Given the description of an element on the screen output the (x, y) to click on. 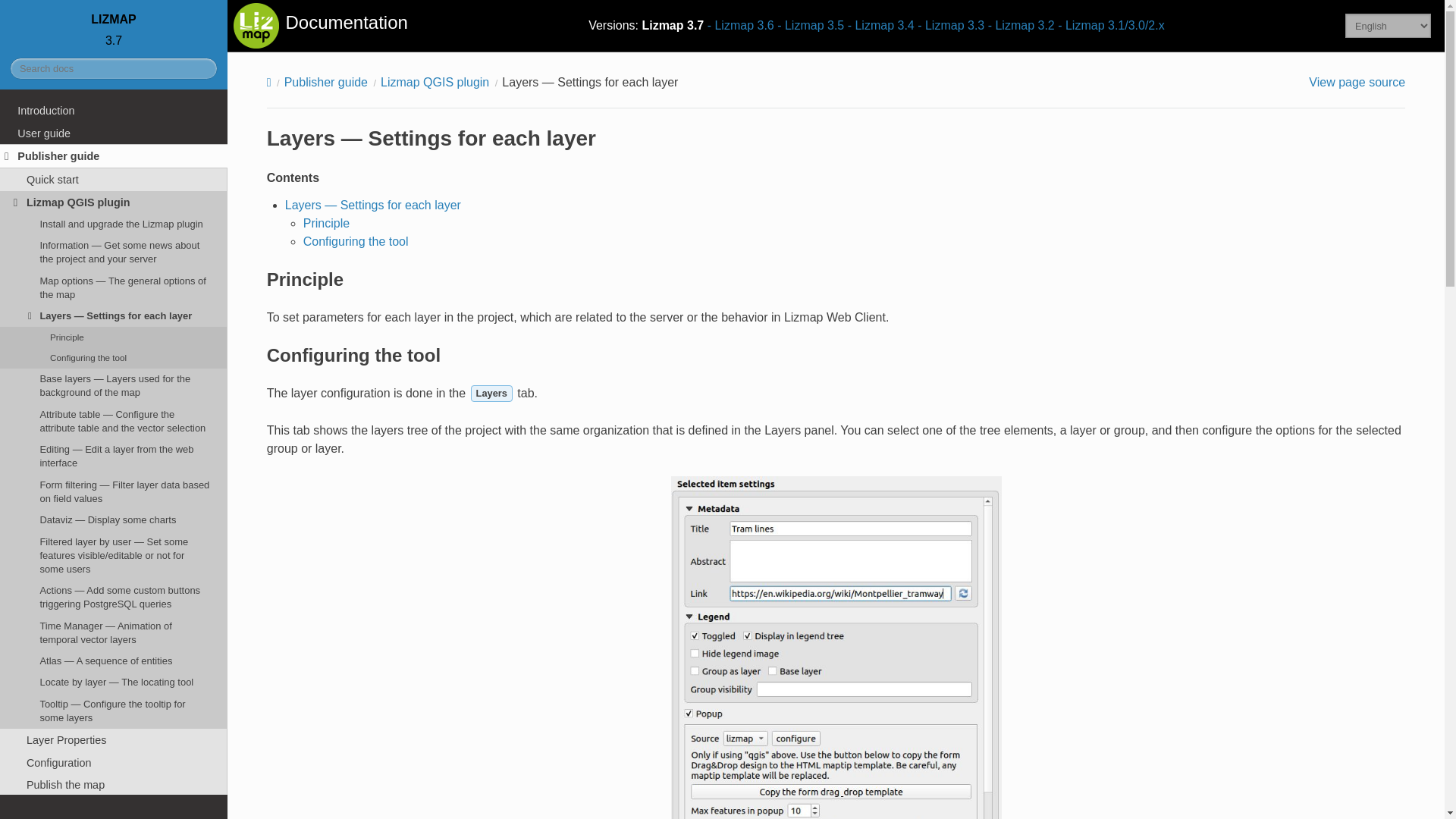
Lizmap QGIS plugin (113, 201)
Lizmap 3.4 (880, 24)
Install and upgrade the Lizmap plugin (113, 223)
Lizmap 3.3 (950, 24)
Lizmap 3.6 (740, 24)
User guide (113, 133)
Documentation (319, 25)
Lizmap 3.5 (810, 24)
Publisher guide (113, 156)
Quick start (113, 179)
